Given the description of an element on the screen output the (x, y) to click on. 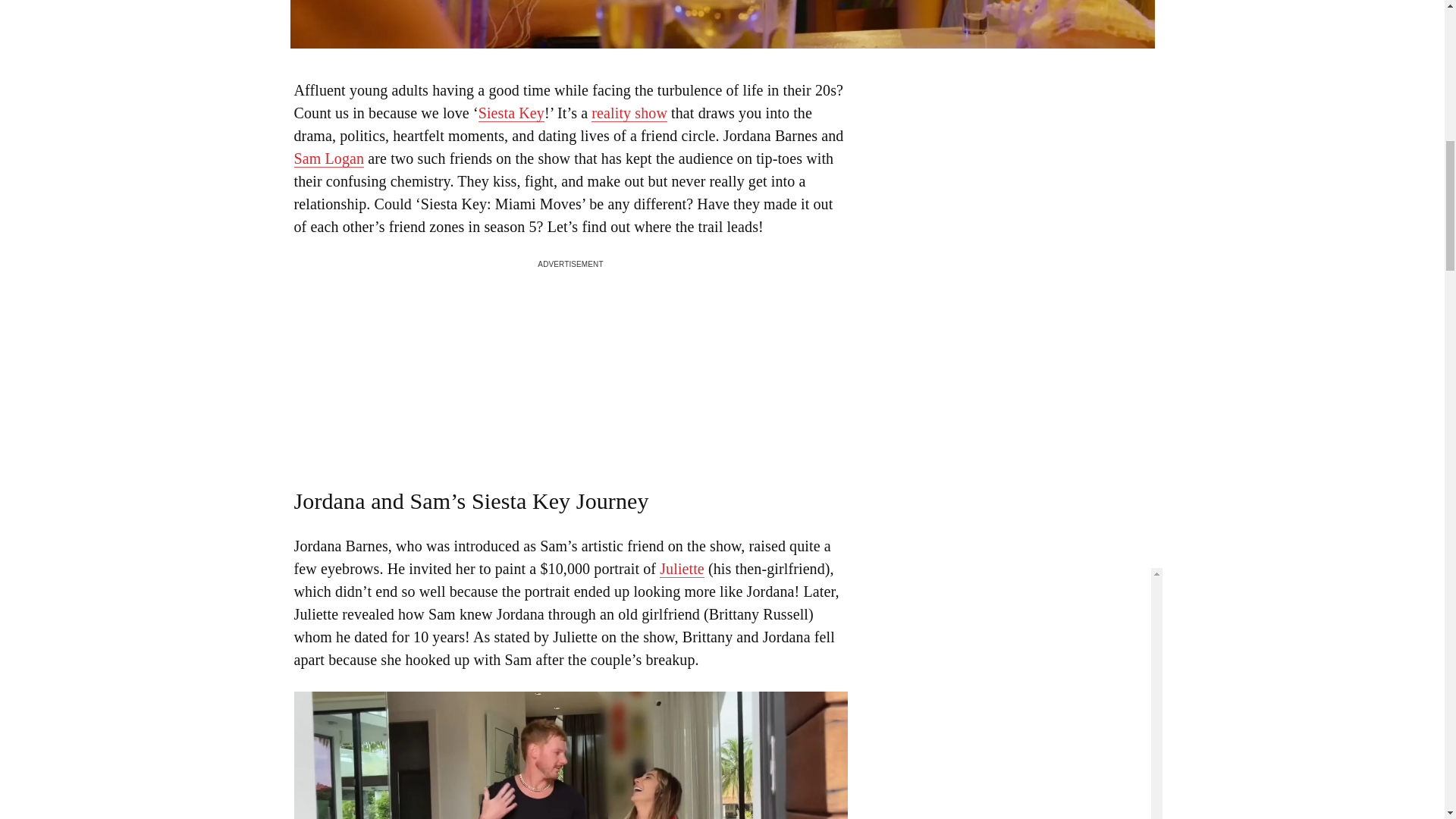
Siesta Key (511, 113)
Sam Logan (329, 158)
reality show (628, 113)
Juliette (681, 569)
